Given the description of an element on the screen output the (x, y) to click on. 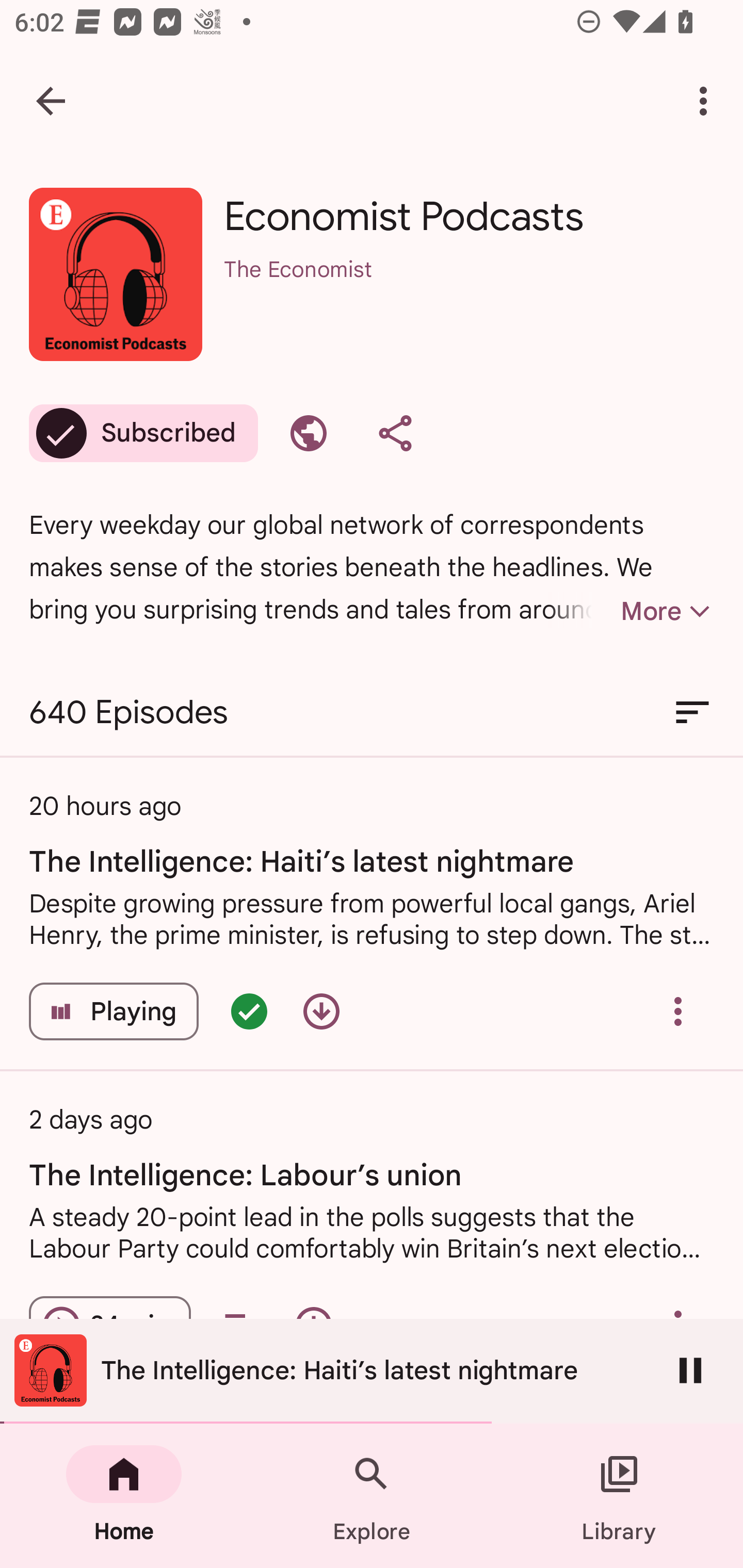
Navigate up (50, 101)
More options (706, 101)
The Economist (468, 295)
Subscribed (142, 433)
Visit website (308, 433)
Share (395, 433)
More (631, 610)
Sort (692, 712)
Episode queued - double tap for options (249, 1011)
Download episode (321, 1011)
Overflow menu (677, 1011)
Pause (690, 1370)
Explore (371, 1495)
Library (619, 1495)
